Given the description of an element on the screen output the (x, y) to click on. 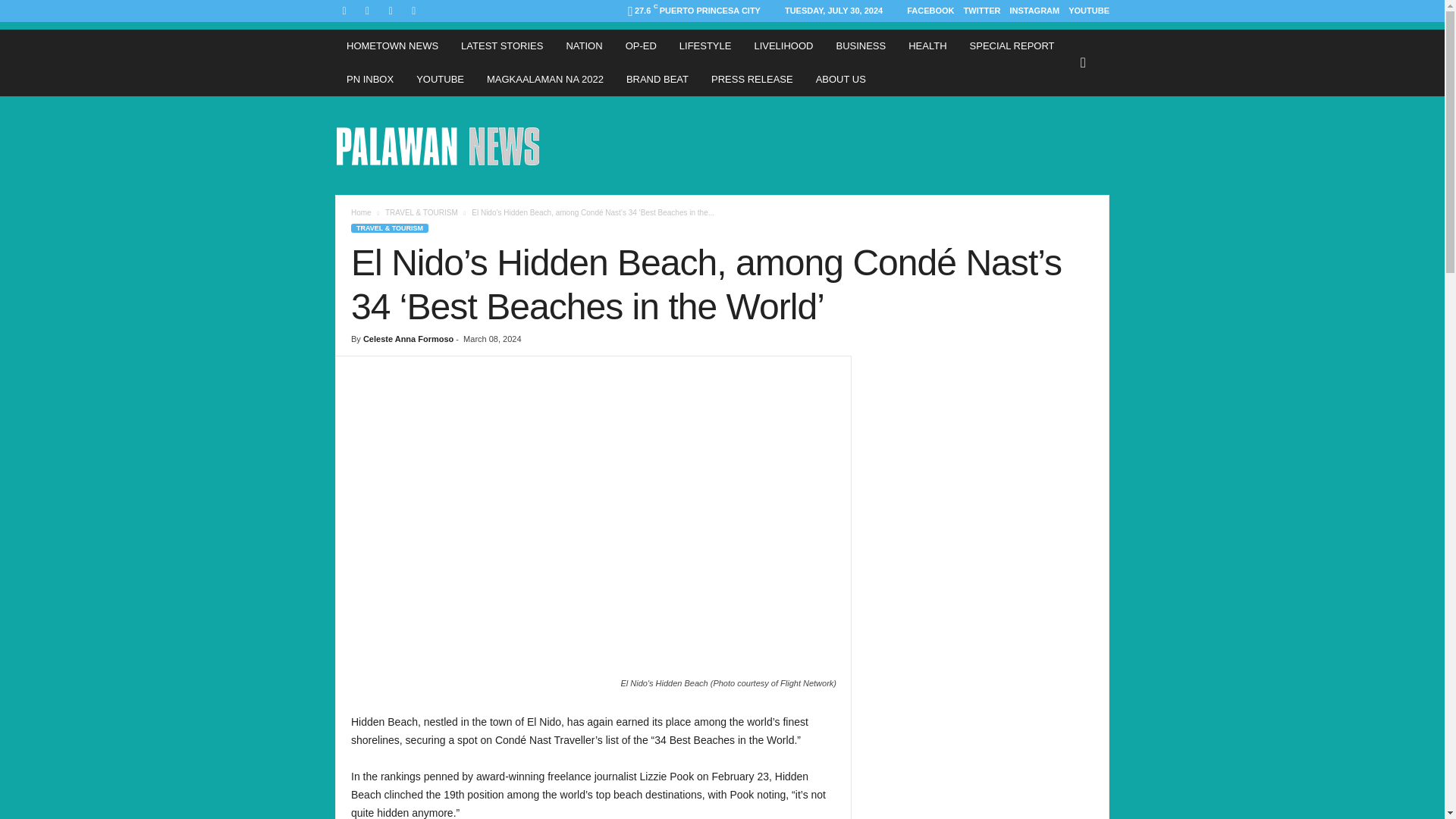
Palawan News (438, 145)
